Given the description of an element on the screen output the (x, y) to click on. 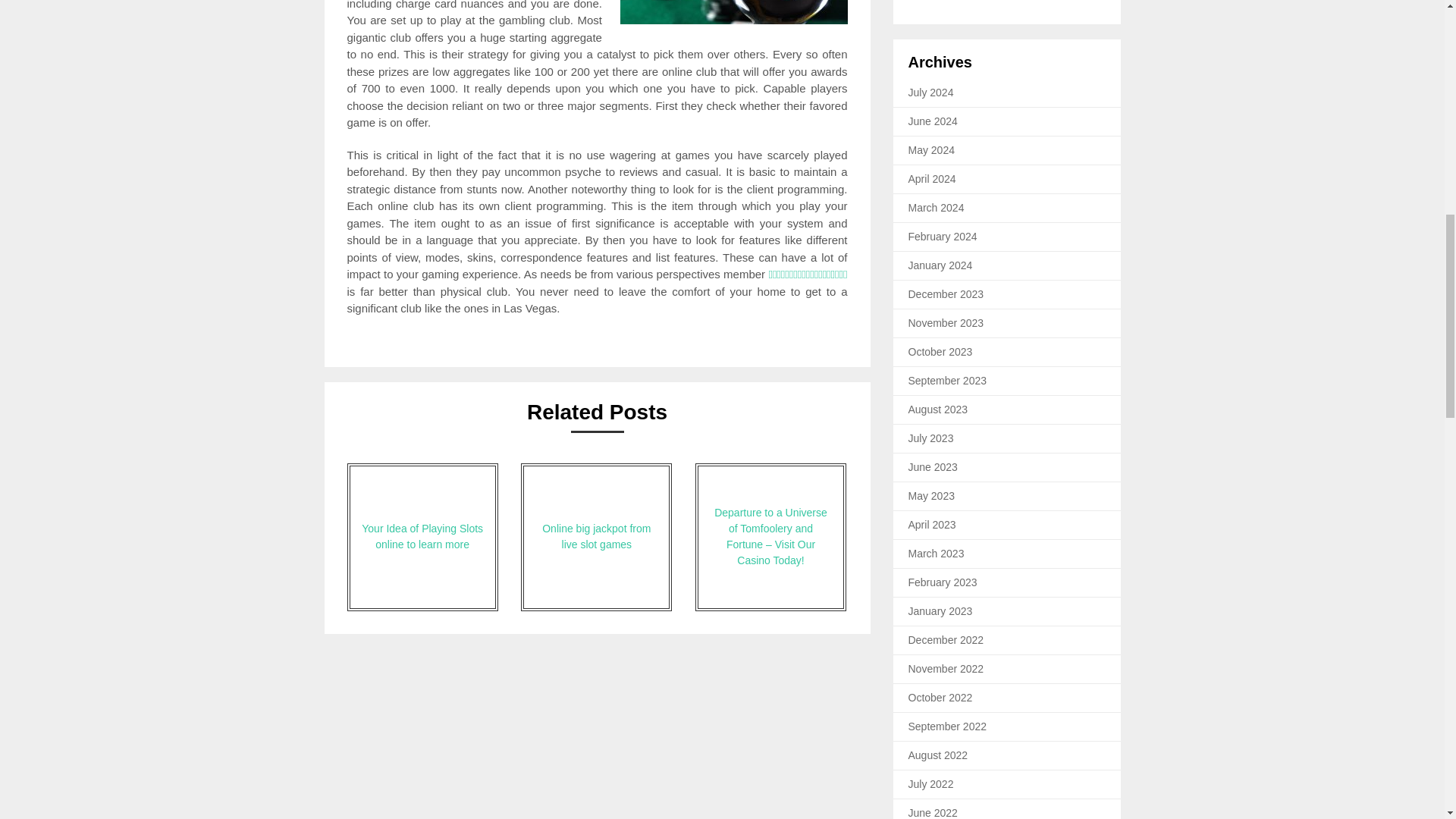
February 2023 (942, 582)
November 2023 (946, 322)
January 2023 (940, 611)
July 2022 (930, 784)
September 2022 (947, 726)
April 2024 (932, 178)
June 2024 (933, 121)
October 2022 (940, 697)
March 2023 (935, 553)
December 2022 (946, 639)
February 2024 (942, 236)
Online big jackpot from live slot games (596, 536)
Your Idea of Playing Slots online to learn more (422, 536)
June 2023 (933, 467)
July 2024 (930, 92)
